Given the description of an element on the screen output the (x, y) to click on. 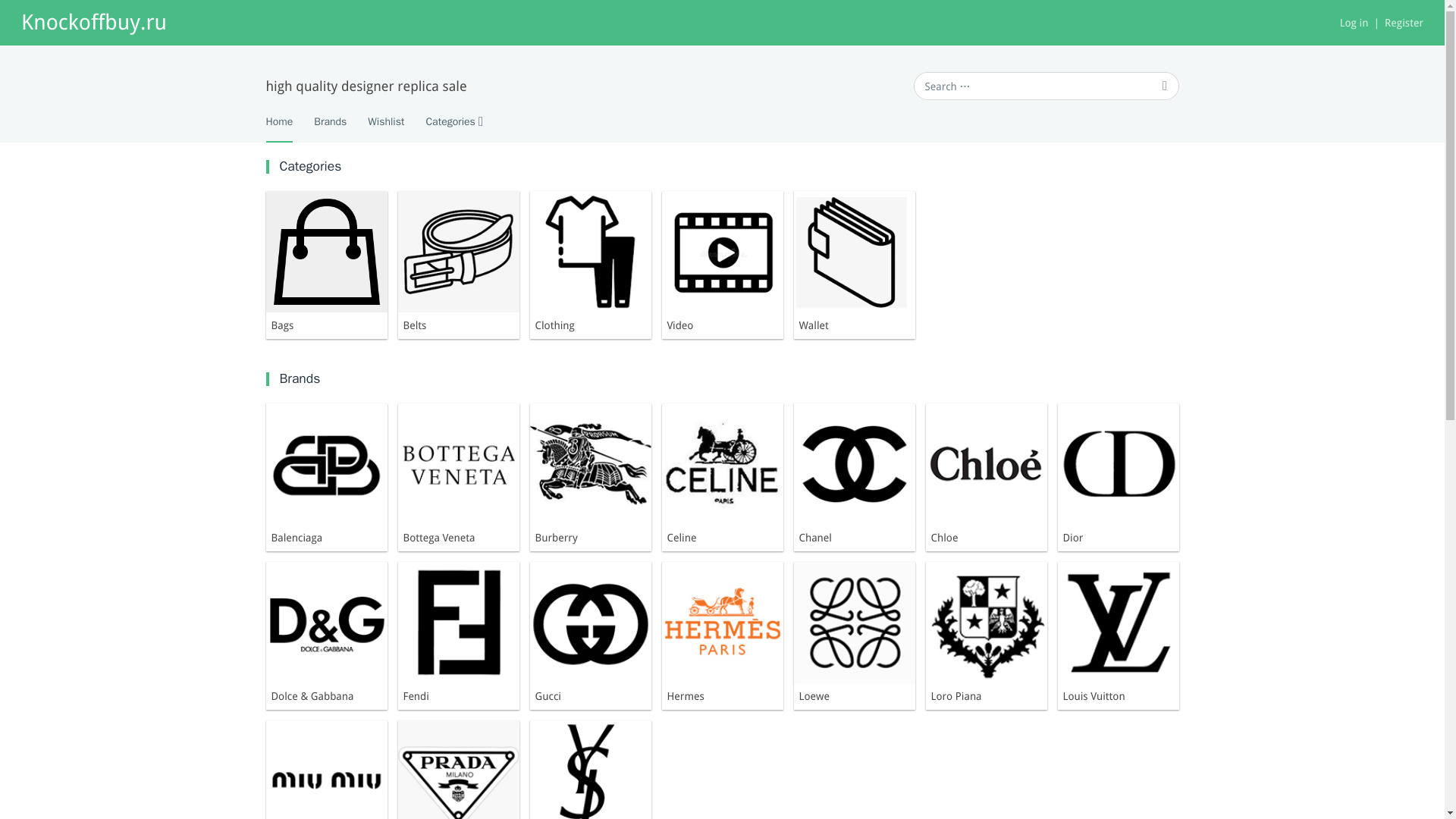
Knockoffbuy.ru (94, 21)
Register (1395, 23)
Log in (1353, 23)
Categories (449, 120)
